Given the description of an element on the screen output the (x, y) to click on. 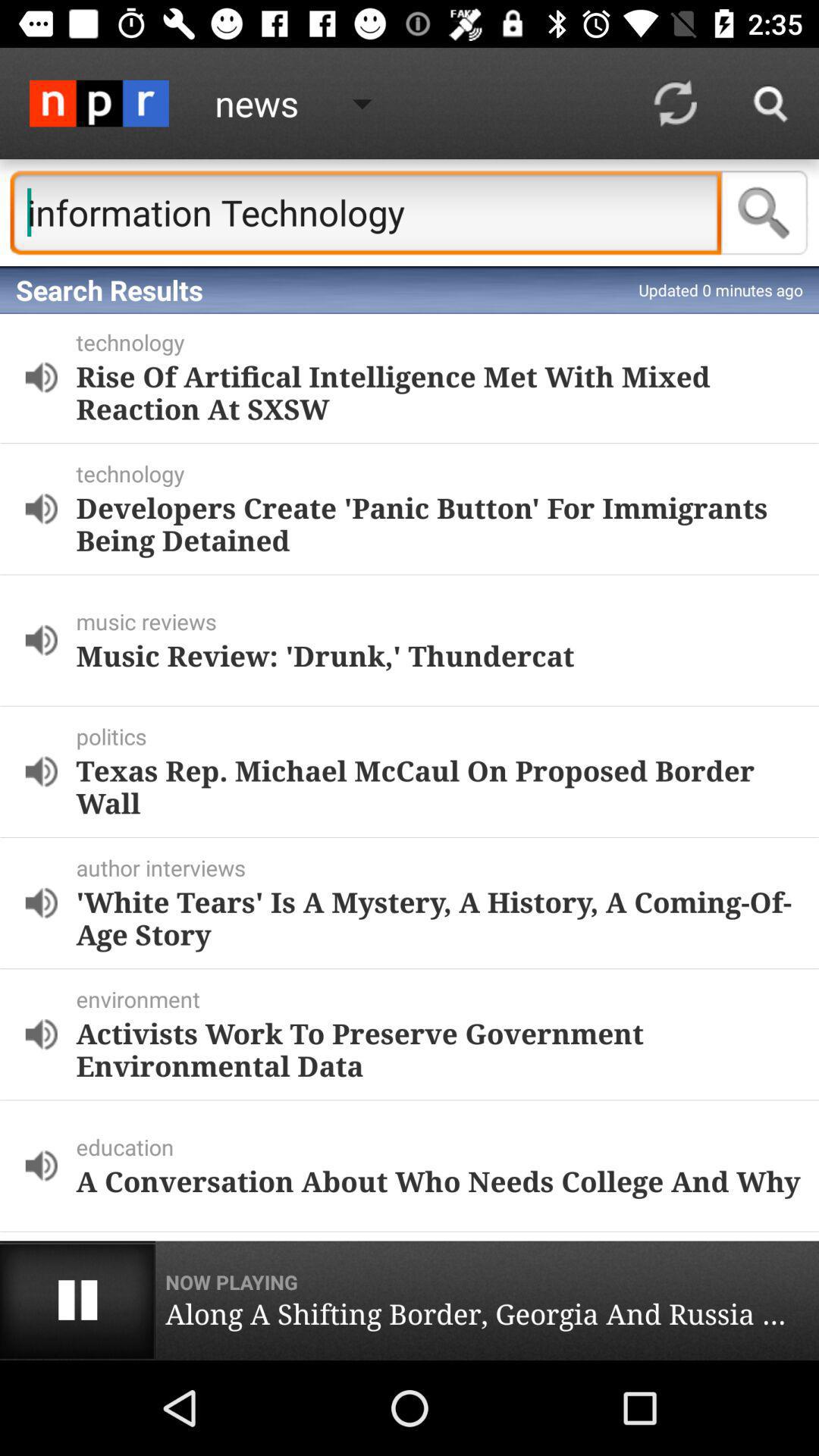
swipe until a conversation about (438, 1180)
